Given the description of an element on the screen output the (x, y) to click on. 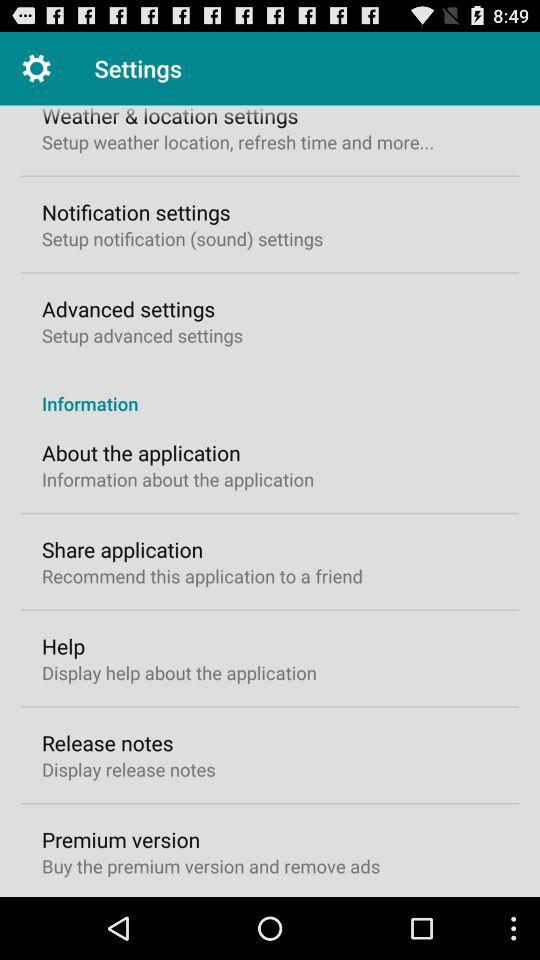
launch icon above the release notes icon (179, 672)
